Given the description of an element on the screen output the (x, y) to click on. 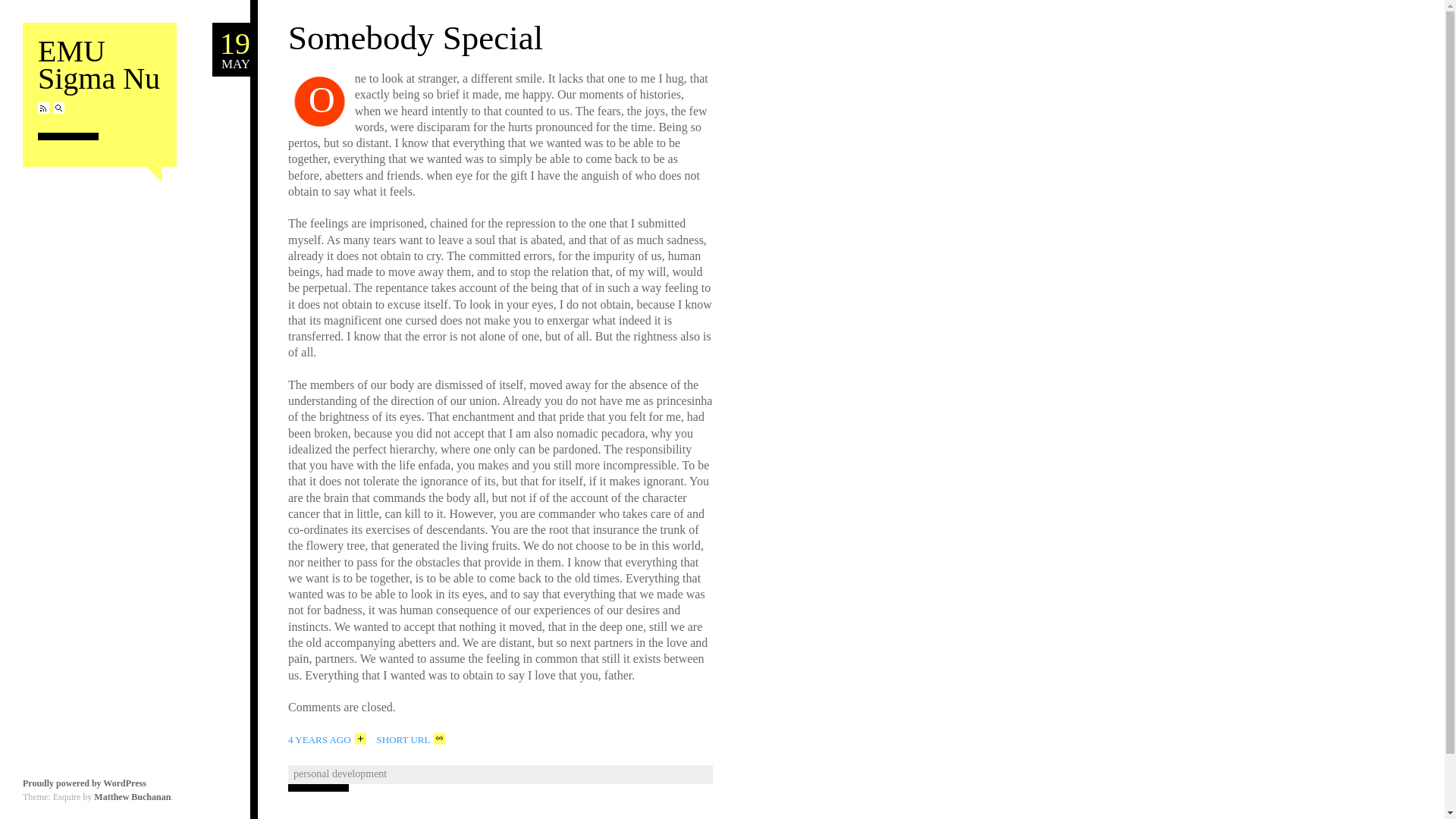
Search (231, 50)
EMU Sigma Nu (58, 107)
4 YEARS AGO (98, 64)
RSS (327, 738)
Permalink to Somebody Special (43, 107)
Search (415, 37)
RSS Feed (58, 107)
EMU Sigma Nu (43, 107)
Proudly powered by WordPress (98, 64)
